Given the description of an element on the screen output the (x, y) to click on. 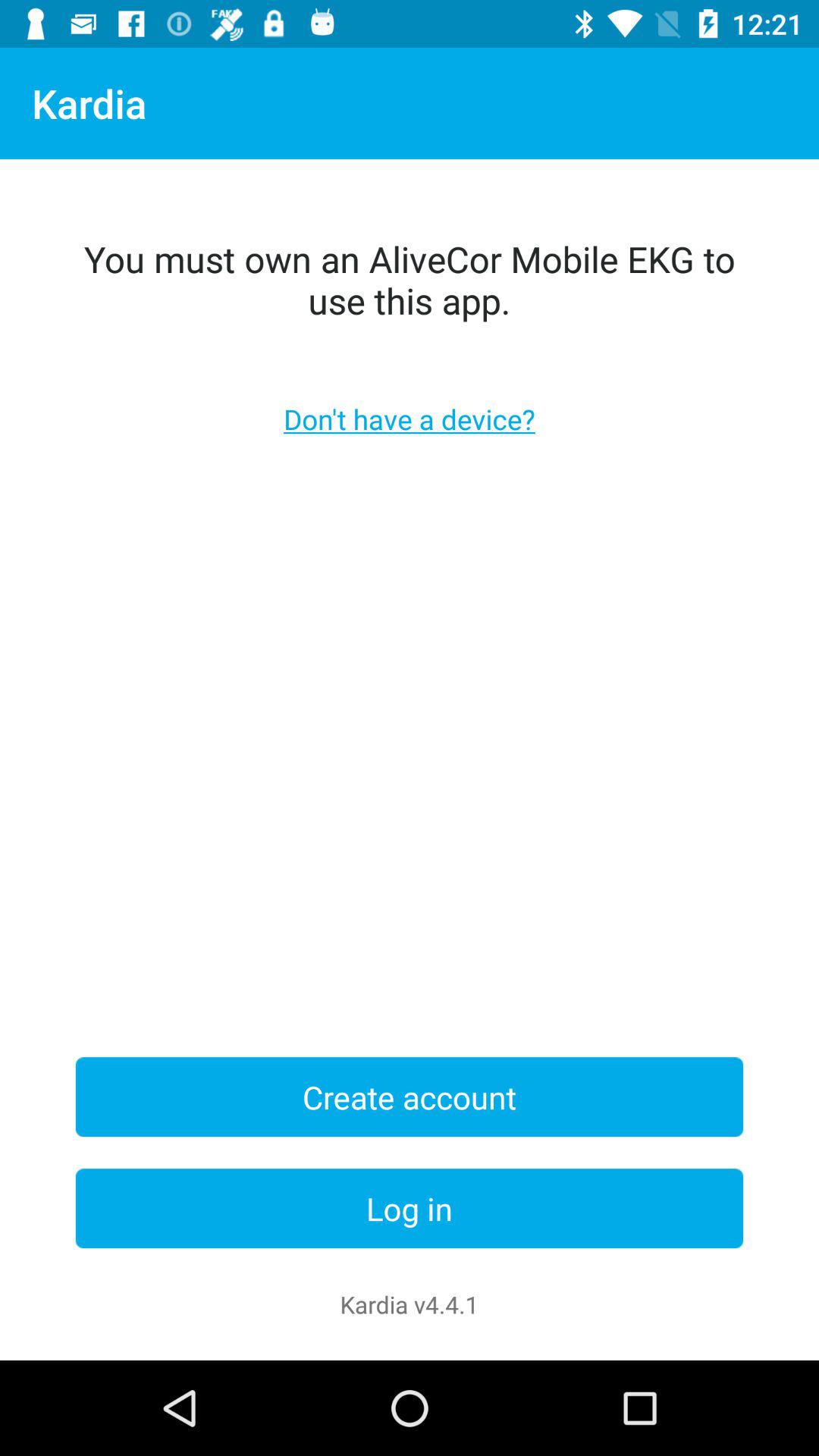
press the item below the create account (409, 1208)
